Given the description of an element on the screen output the (x, y) to click on. 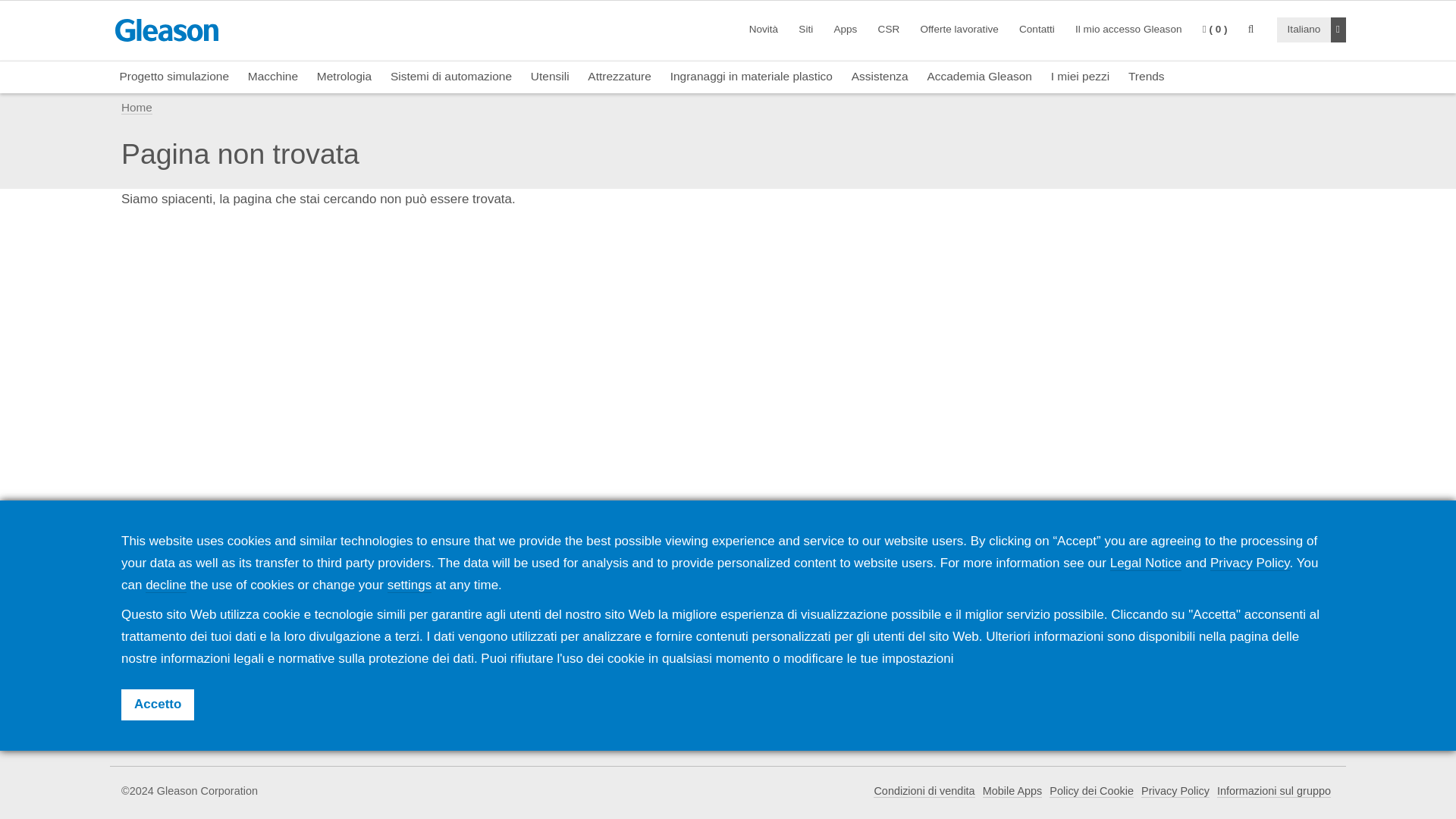
Linkedin (1163, 717)
YouTube (1239, 717)
Facebook (1126, 717)
Line (1315, 717)
Twitter (1201, 717)
Instagram (1277, 717)
News Feed (1088, 716)
